Given the description of an element on the screen output the (x, y) to click on. 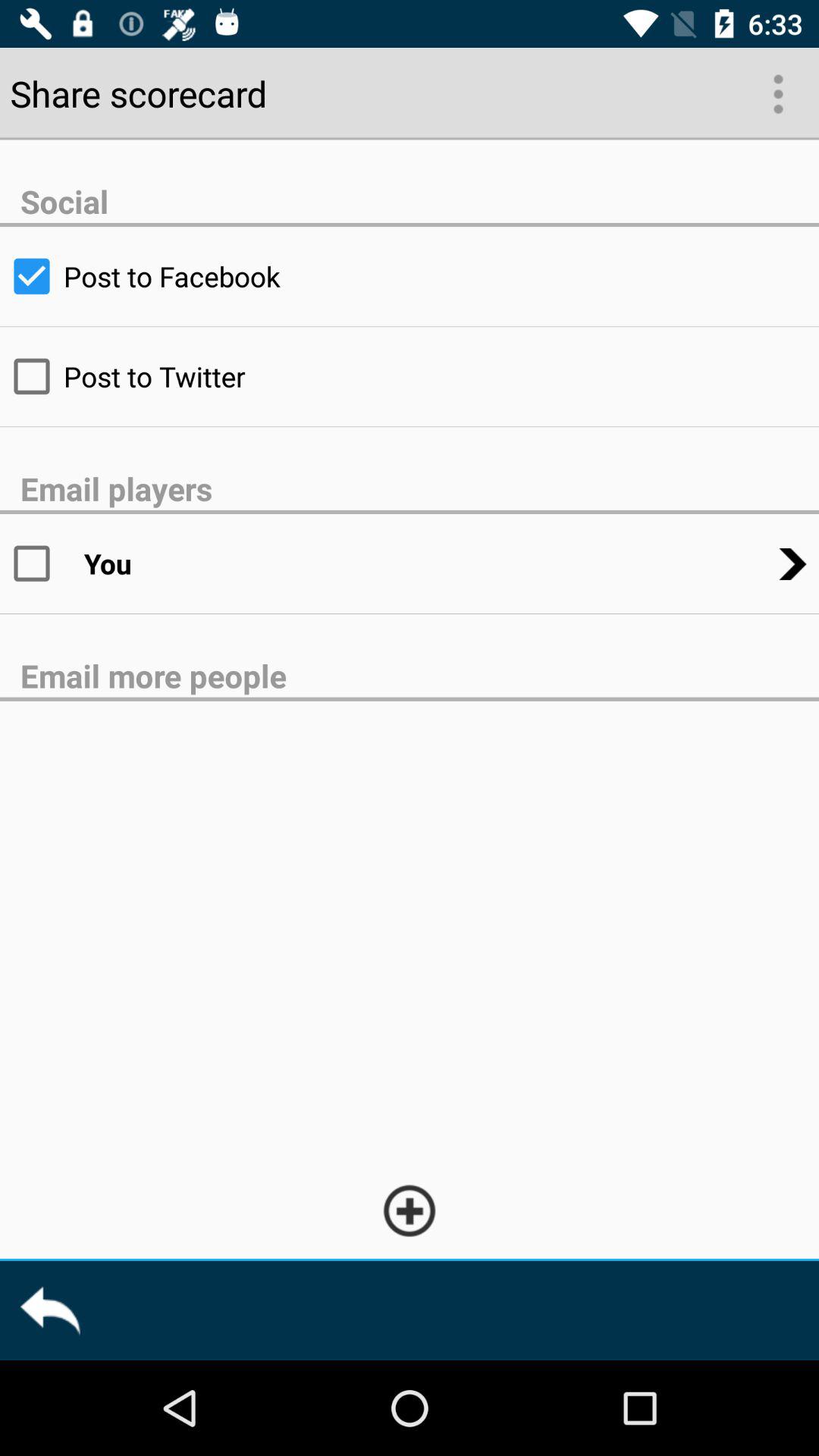
go back (49, 1310)
